Given the description of an element on the screen output the (x, y) to click on. 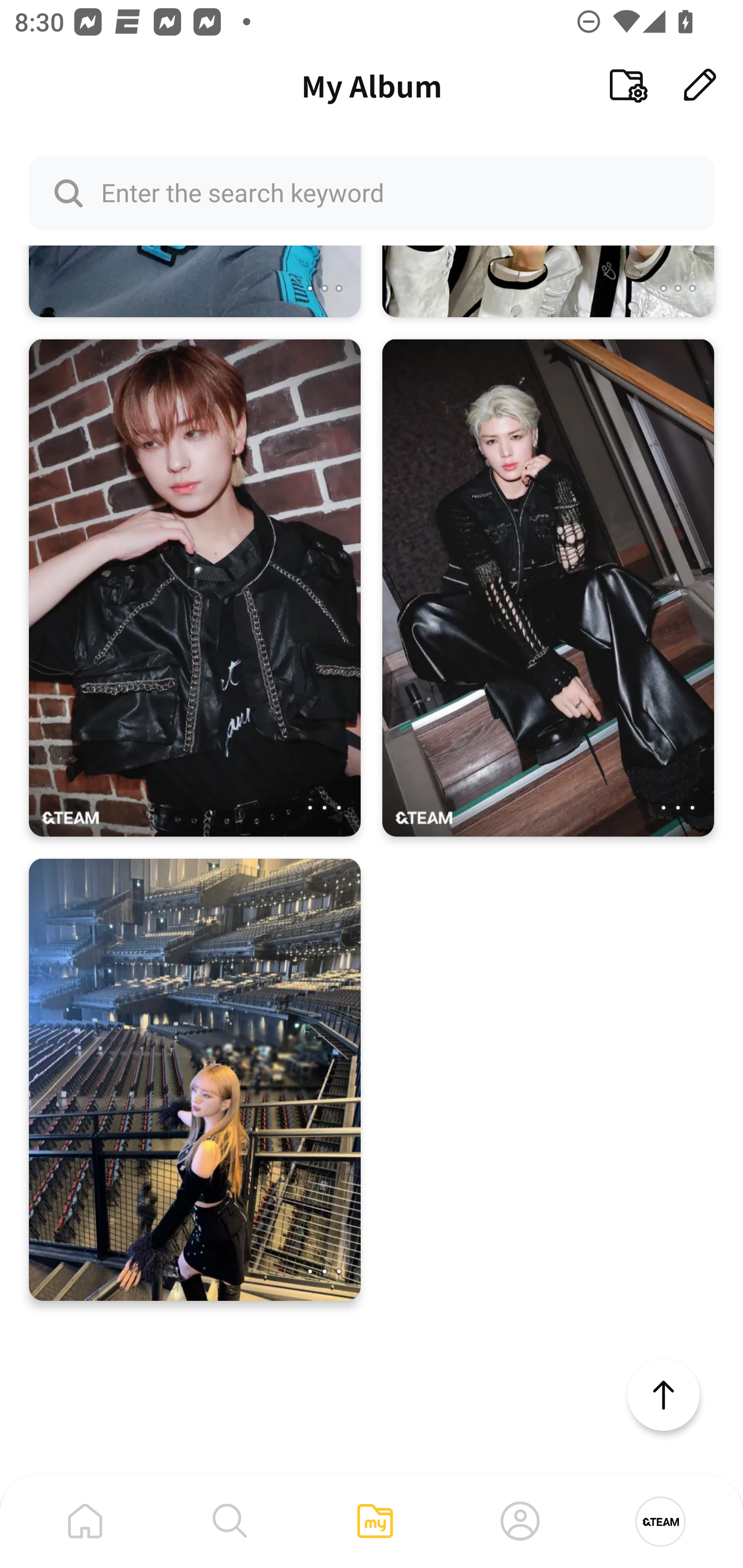
Enter the search keyword (371, 192)
